Given the description of an element on the screen output the (x, y) to click on. 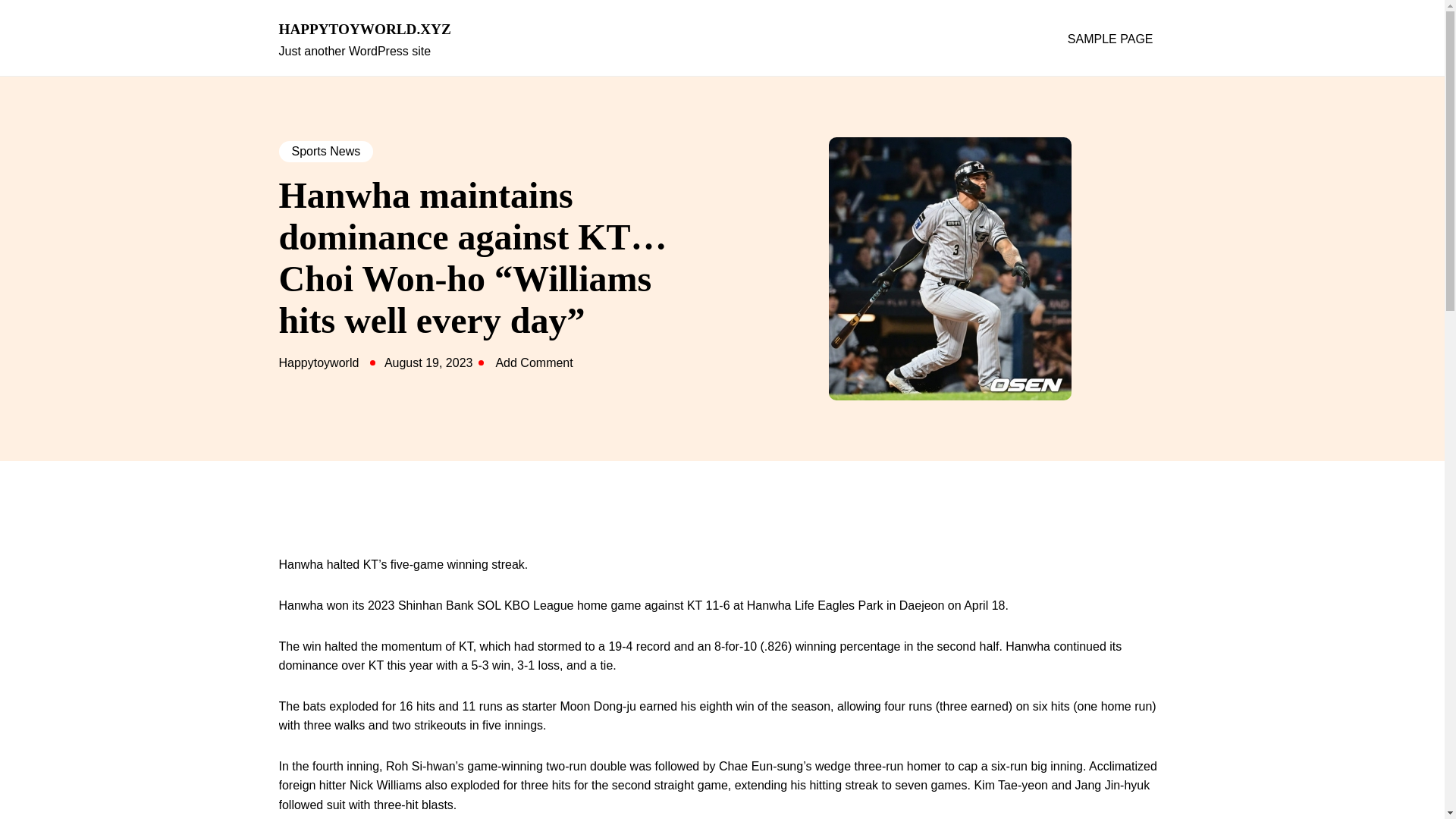
SAMPLE PAGE (1110, 39)
Add Comment (533, 362)
Sports News (326, 151)
HAPPYTOYWORLD.XYZ (381, 29)
Happytoyworld (319, 362)
August 19, 2023 (428, 362)
